Given the description of an element on the screen output the (x, y) to click on. 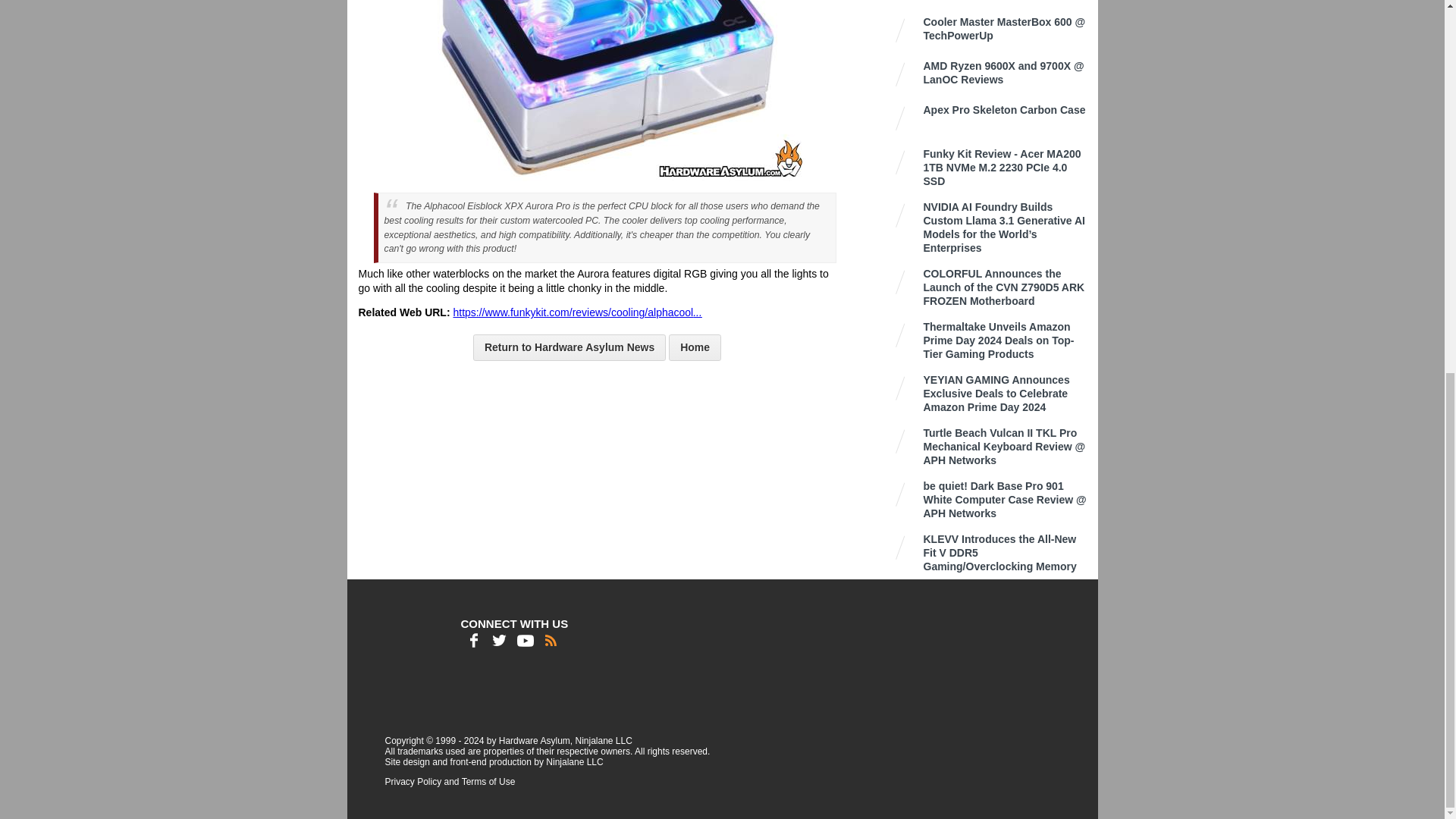
Return to Hardware Asylum News (569, 347)
Privacy Policy and Terms of Use (450, 781)
Home (694, 347)
Apex Pro Skeleton Carbon Case (1006, 110)
Funky Kit Review - Acer MA200 1TB NVMe M.2 2230 PCIe 4.0 SSD (1006, 167)
